Given the description of an element on the screen output the (x, y) to click on. 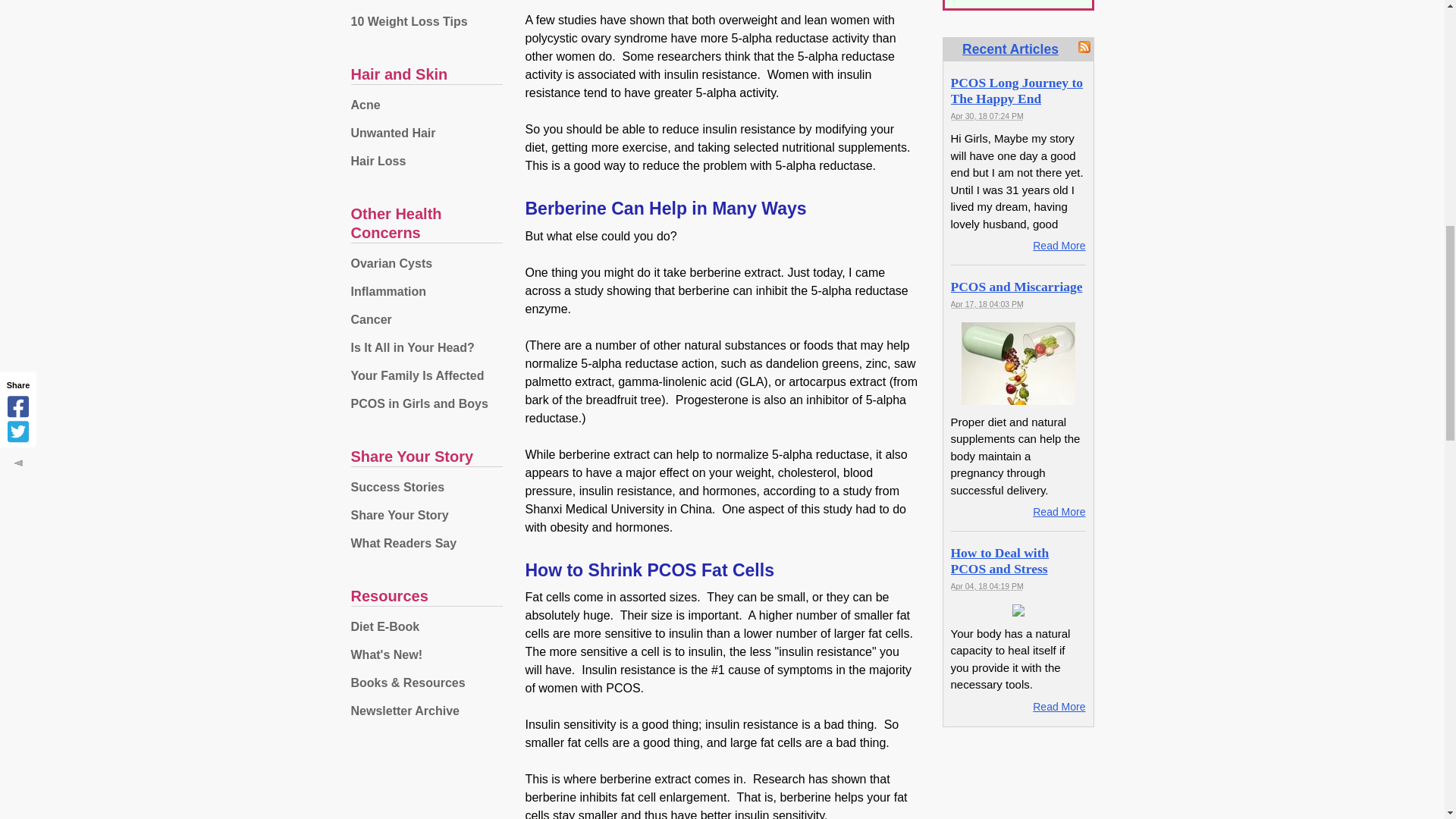
Ovarian Cysts (426, 263)
Hair Loss (426, 161)
2018-04-30T19:24:58-0400 (986, 115)
Why You Are Heavy (426, 3)
Acne (426, 104)
2018-04-17T16:03:15-0400 (986, 303)
Unwanted Hair (426, 133)
2018-04-04T16:19:37-0400 (986, 585)
10 Weight Loss Tips (426, 22)
